Given the description of an element on the screen output the (x, y) to click on. 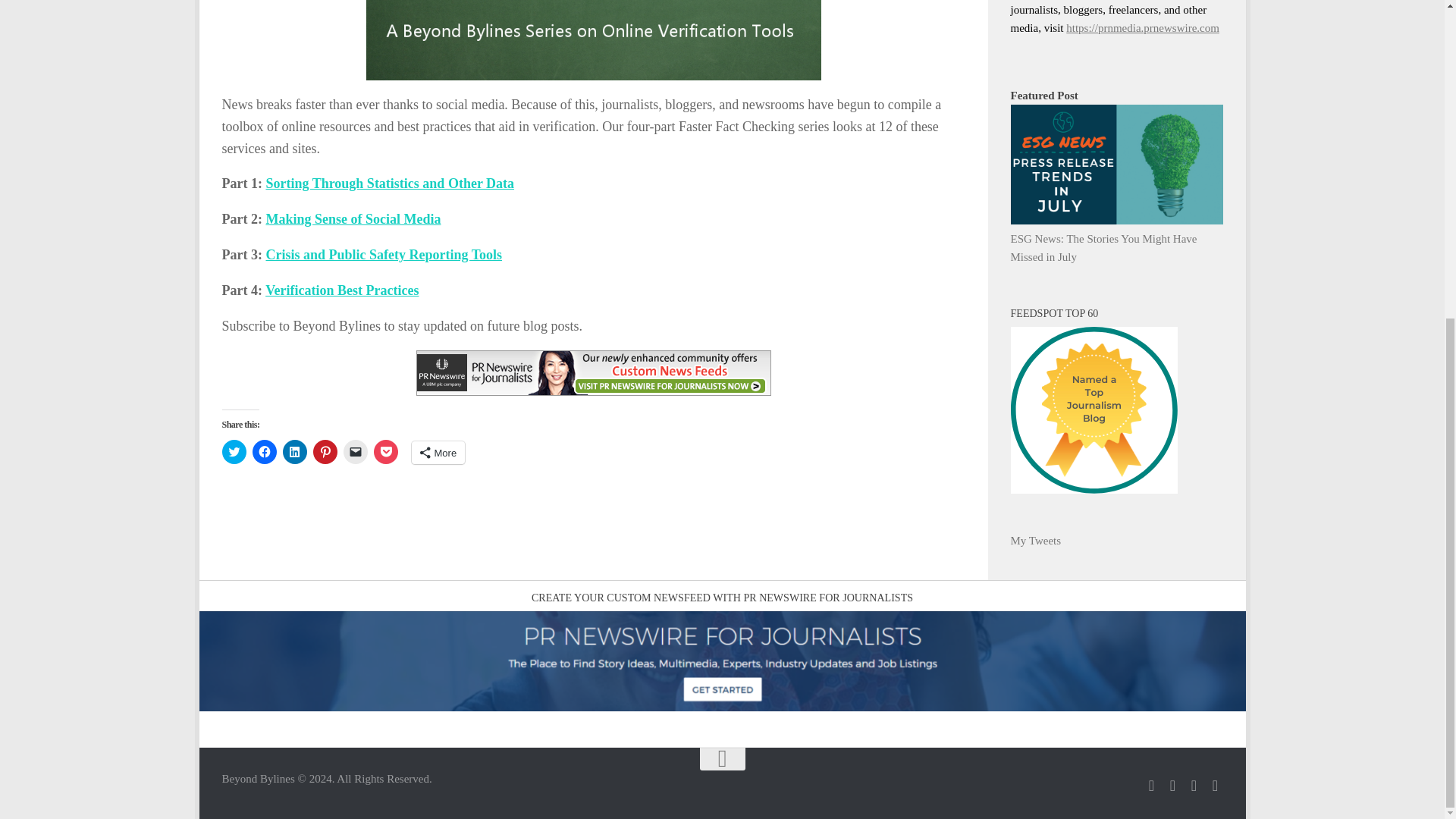
Click to share on Pinterest (324, 451)
Click to share on Facebook (263, 451)
Verification Best Practices (341, 290)
Click to share on LinkedIn (293, 451)
Crisis and Public Safety Reporting Tools (383, 254)
Follow us on Facebook (1171, 785)
Follow us on Twitter (1150, 785)
Click to share on Pocket (384, 451)
Click to email a link to a friend (354, 451)
Feedspot-top-50 (1093, 409)
Making Sense of Social Media (352, 218)
Sorting Through Statistics and Other Data (388, 183)
Click to share on Twitter (233, 451)
